Given the description of an element on the screen output the (x, y) to click on. 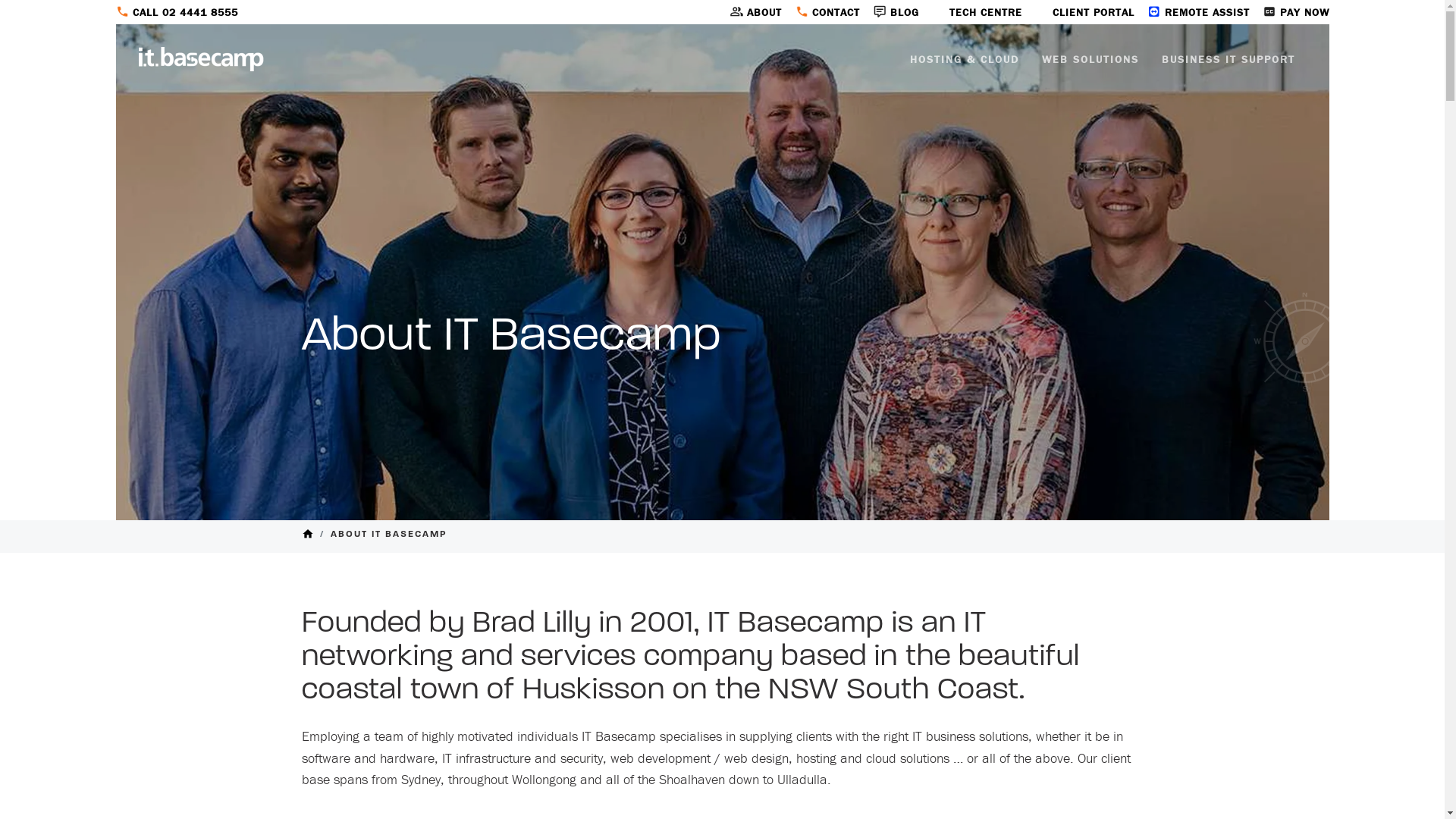
CALL 02 4441 8555 Element type: text (176, 12)
CLIENT PORTAL Element type: text (1078, 12)
ABOUT Element type: text (748, 12)
BUSINESS IT SUPPORT Element type: text (1227, 59)
CONTACT Element type: text (820, 12)
home Element type: text (307, 537)
PAY NOW Element type: text (1289, 12)
WEB SOLUTIONS Element type: text (1089, 59)
BLOG Element type: text (889, 12)
TECH CENTRE Element type: text (970, 12)
HOSTING & CLOUD Element type: text (963, 59)
REMOTE ASSIST Element type: text (1191, 12)
